Given the description of an element on the screen output the (x, y) to click on. 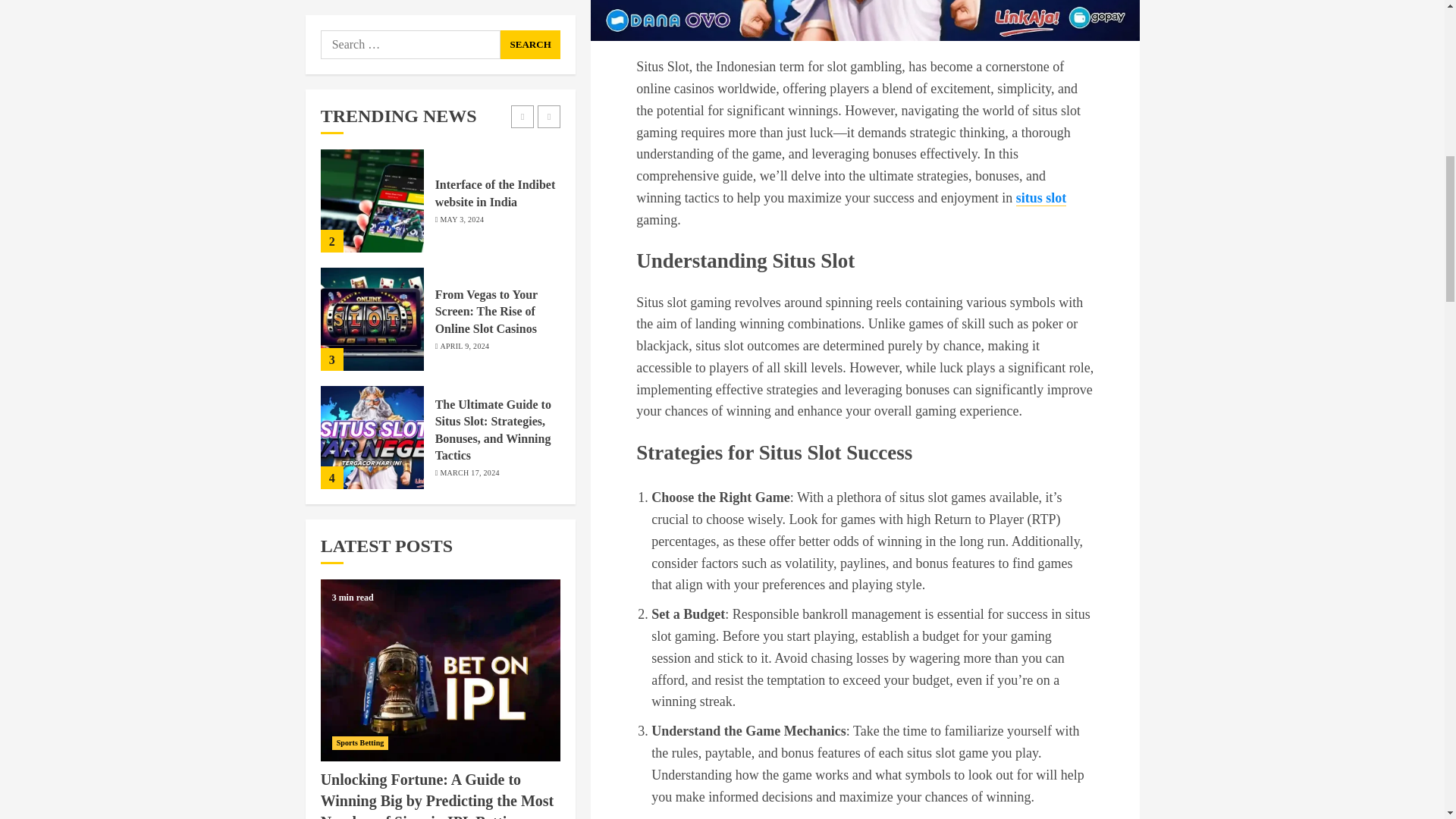
situs slot (1041, 198)
